Given the description of an element on the screen output the (x, y) to click on. 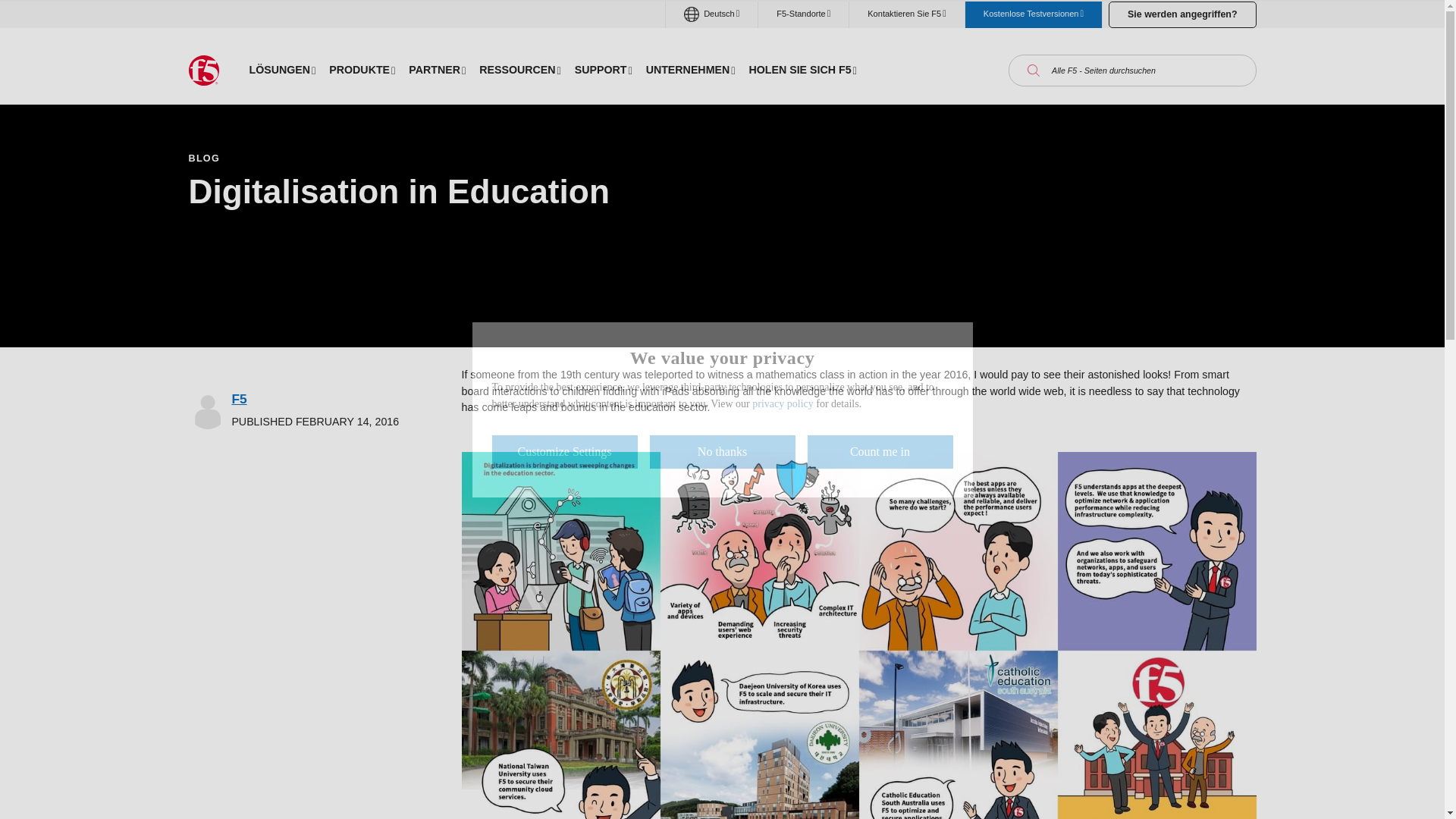
F5 (202, 70)
SUPPORT (603, 69)
HOLEN SIE SICH F5 (802, 69)
PARTNER (436, 69)
RESSOURCEN (519, 69)
Kontaktieren Sie F5 (905, 13)
Sie werden angegriffen? (1181, 14)
F5 (238, 398)
PRODUKTE (361, 69)
UNTERNEHMEN (690, 69)
